Given the description of an element on the screen output the (x, y) to click on. 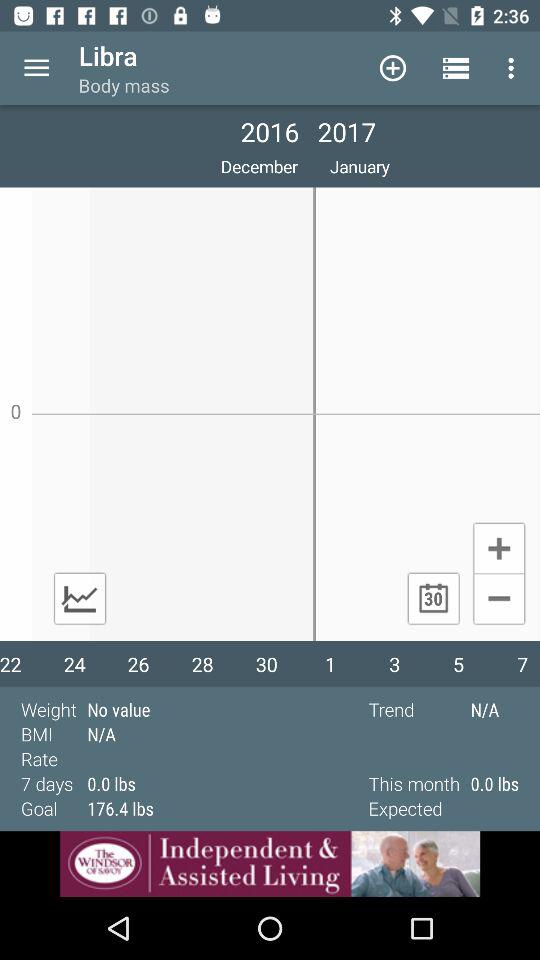
drop down menu button (36, 68)
